Given the description of an element on the screen output the (x, y) to click on. 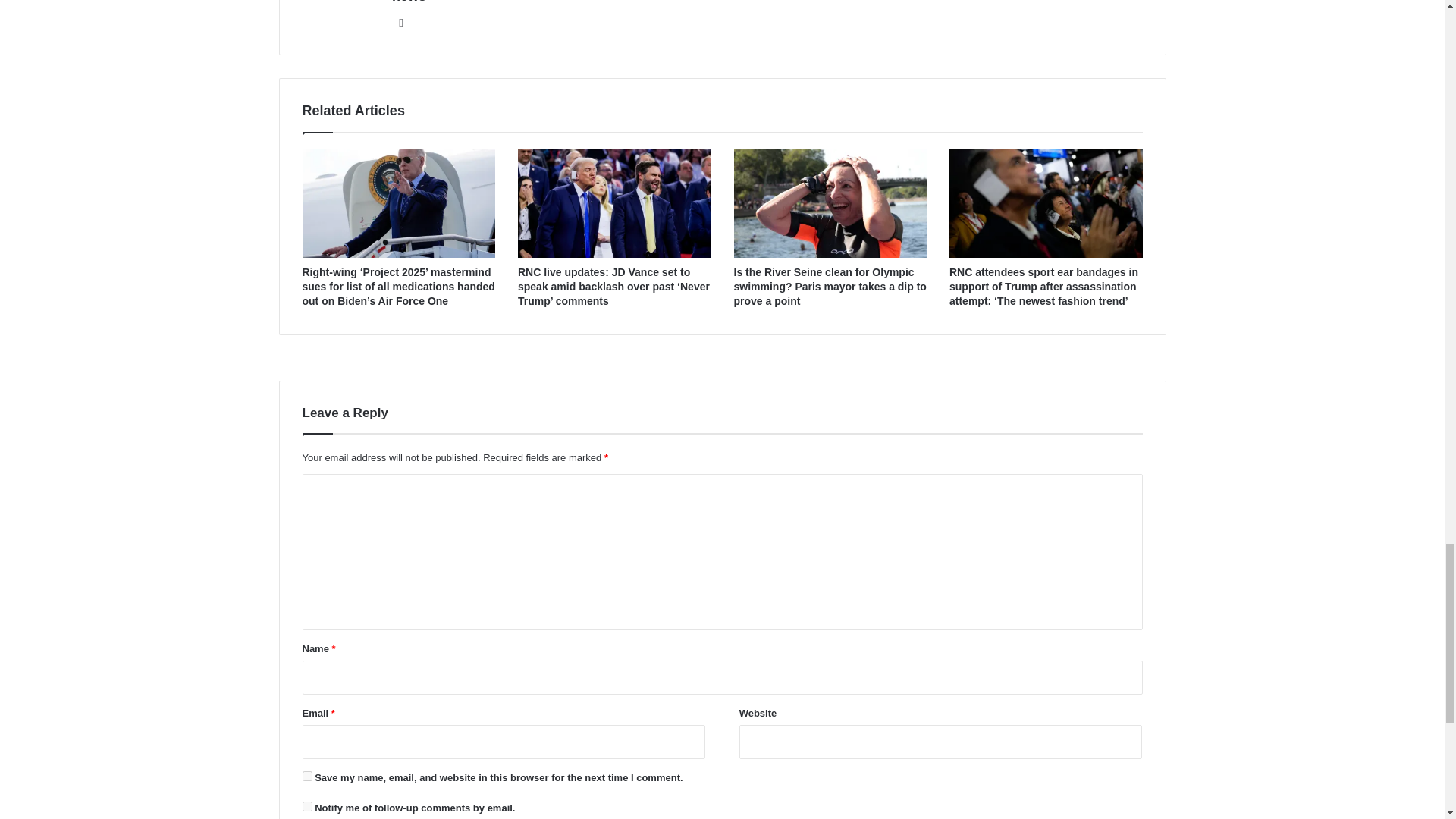
subscribe (306, 806)
yes (306, 776)
